Given the description of an element on the screen output the (x, y) to click on. 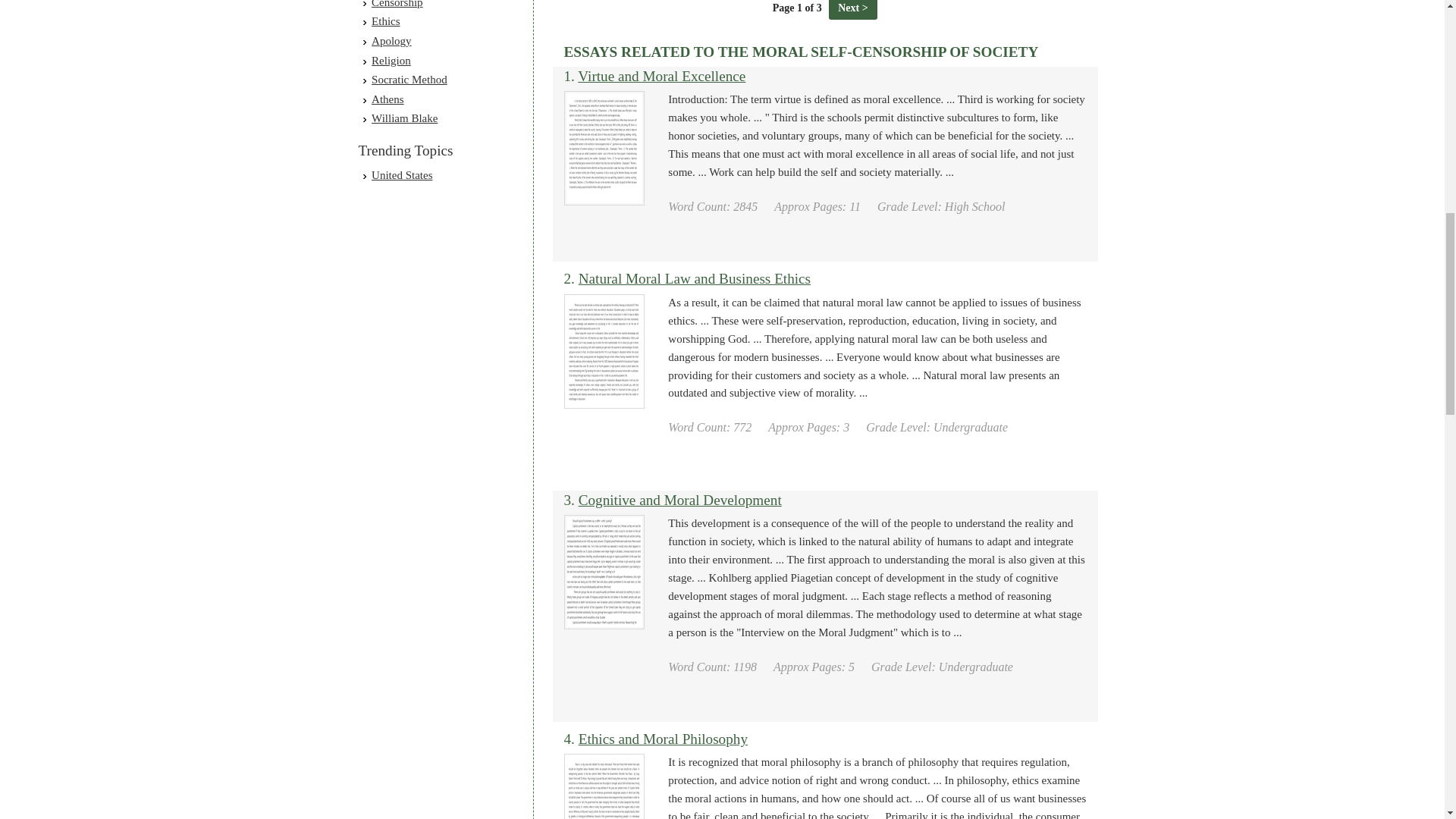
Censorship (397, 4)
Athens (387, 99)
William Blake (404, 118)
Socratic Method (408, 79)
United States (401, 174)
Religion (390, 60)
Virtue and Moral Excellence (661, 75)
Apology (391, 40)
Ethics (385, 21)
